Given the description of an element on the screen output the (x, y) to click on. 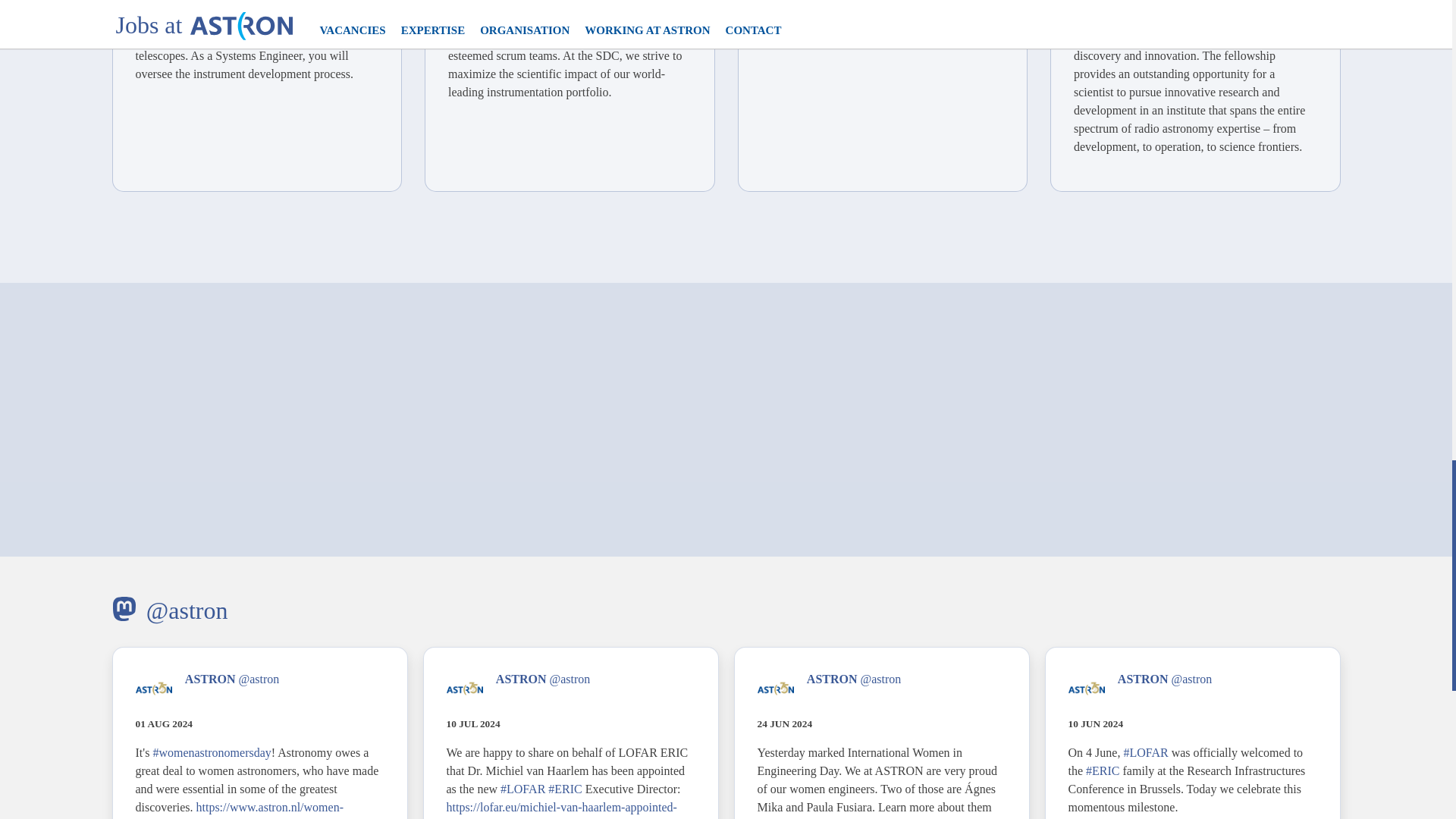
ASTRON (521, 678)
ASTRON (831, 678)
ASTRON (209, 678)
